Given the description of an element on the screen output the (x, y) to click on. 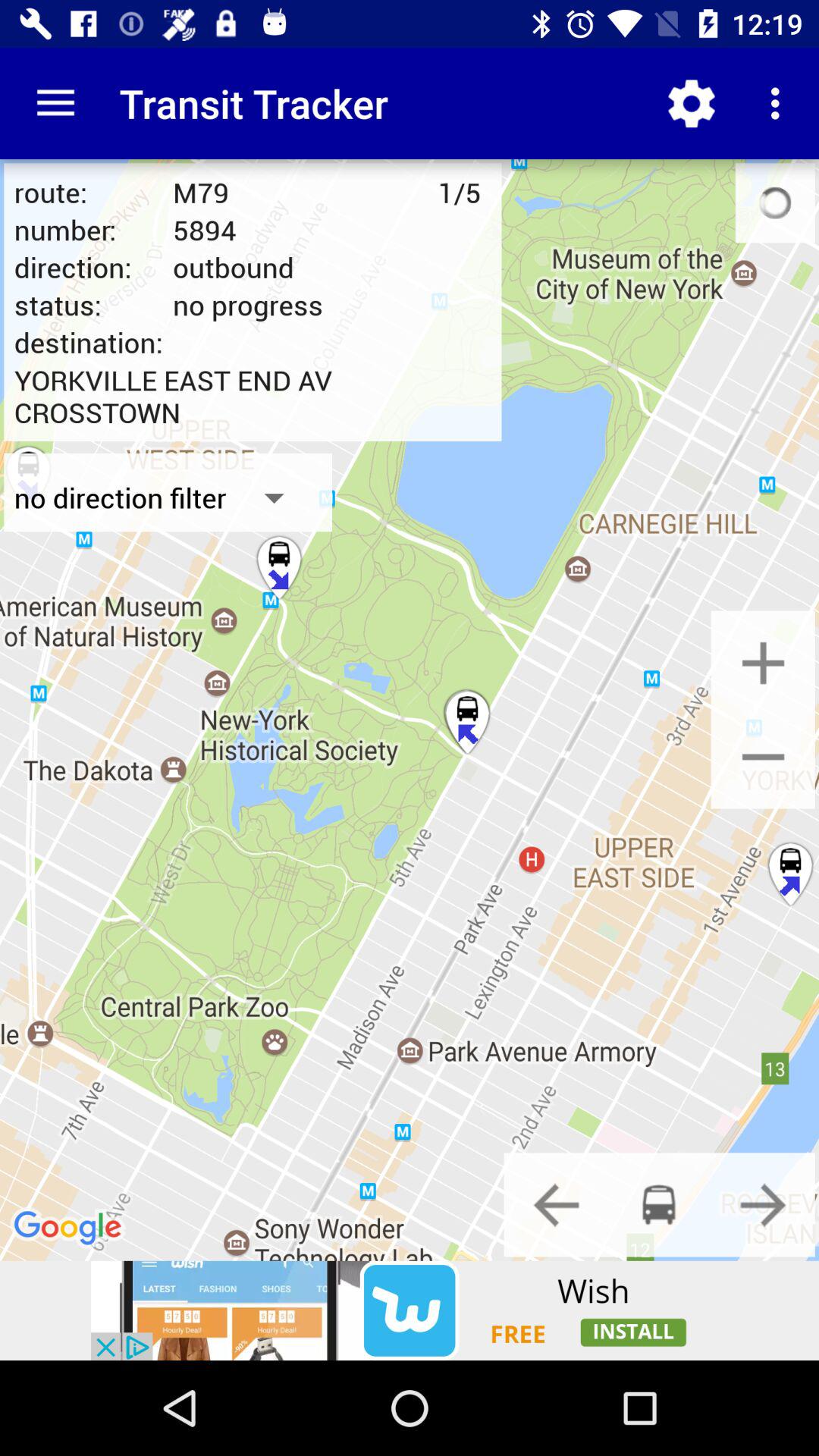
zoom auto (762, 756)
